Given the description of an element on the screen output the (x, y) to click on. 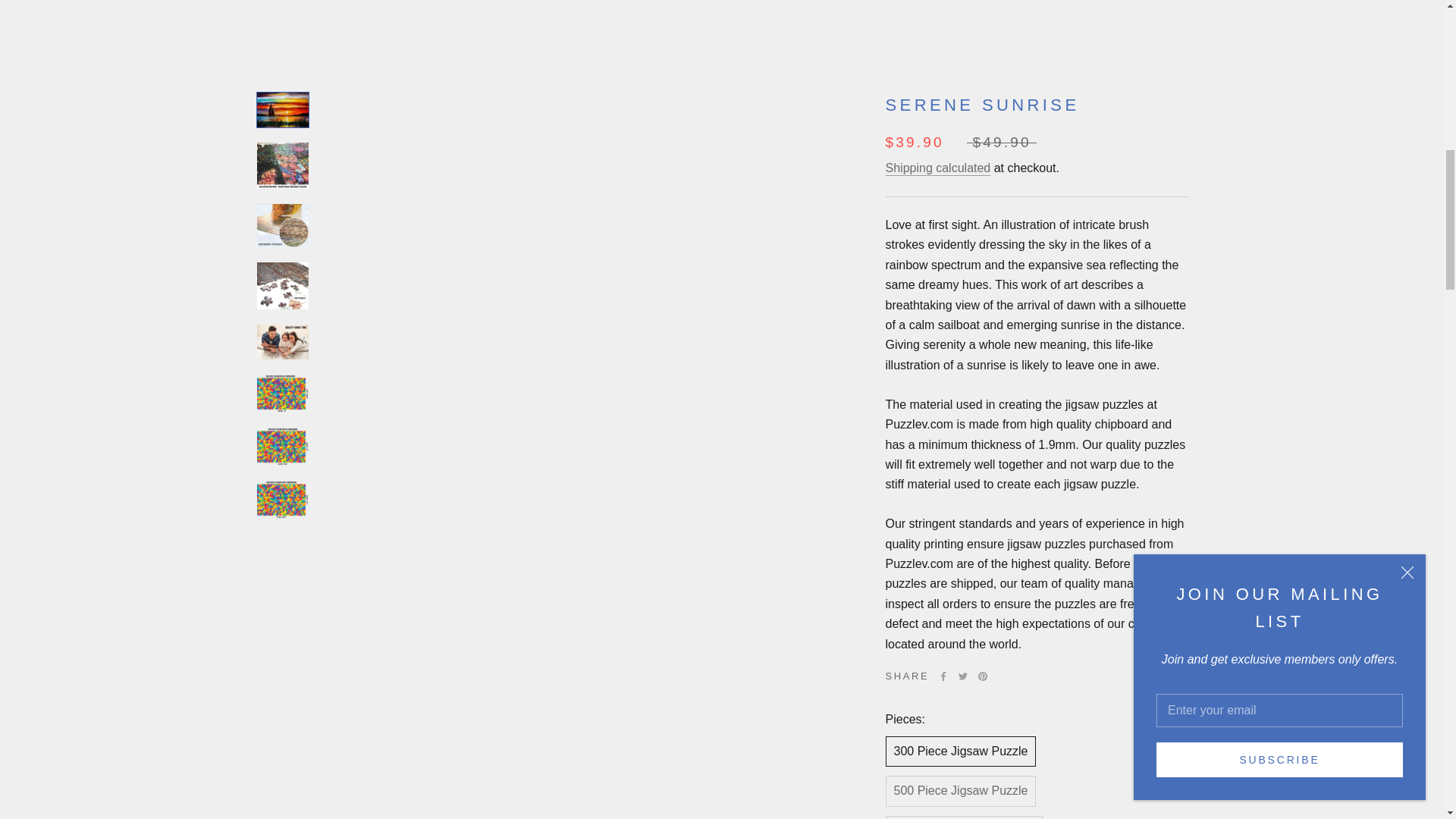
1 (938, 106)
